Given the description of an element on the screen output the (x, y) to click on. 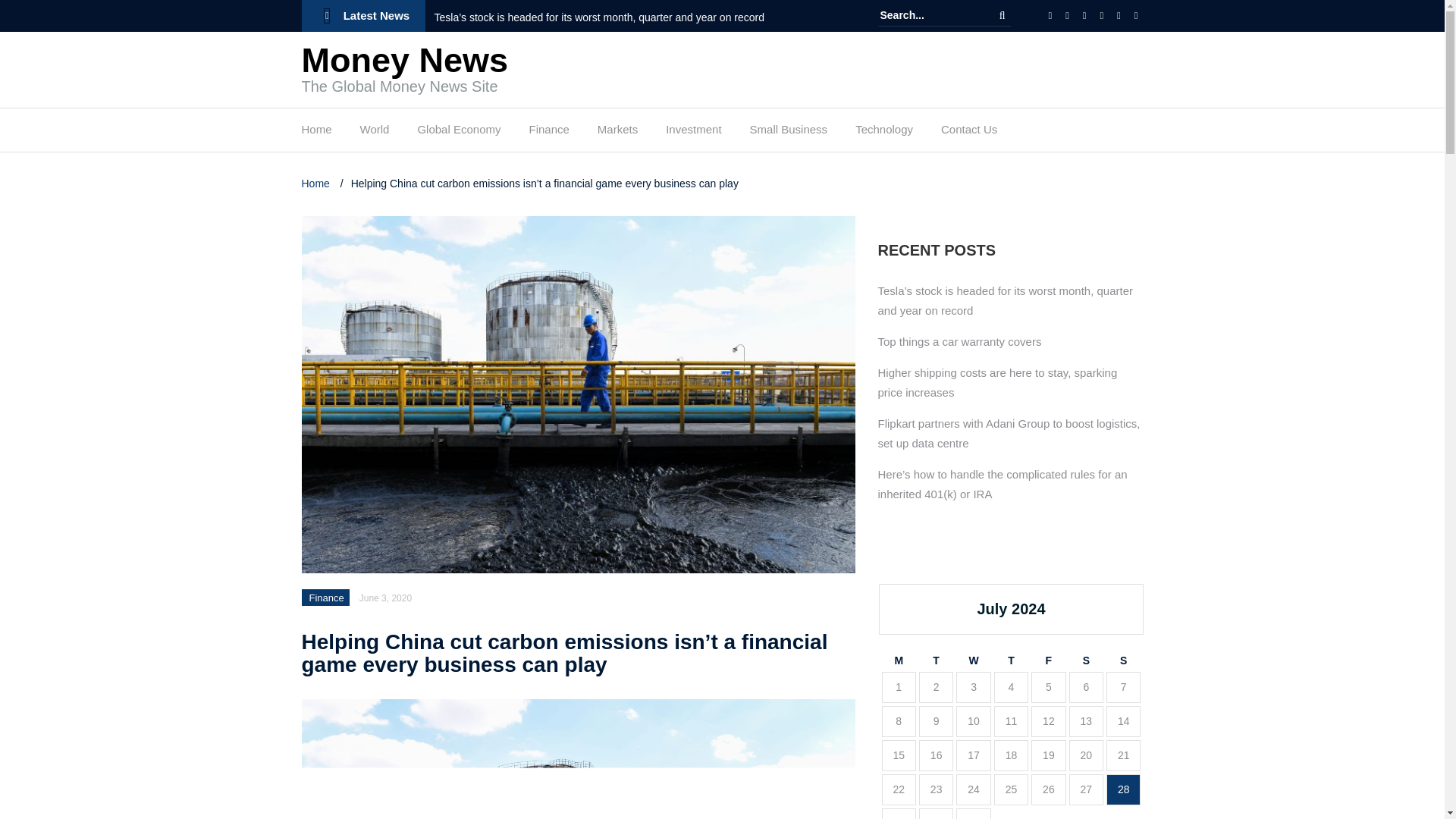
Tuesday (935, 660)
Finance (548, 133)
Wednesday (973, 660)
Finance (325, 597)
Sunday (1123, 660)
Global Economy (458, 133)
Thursday (1010, 660)
Friday (1047, 660)
Saturday (1085, 660)
World (374, 133)
Contact Us (968, 133)
Money News (404, 59)
Markets (616, 133)
Technology (884, 133)
Home (316, 133)
